Given the description of an element on the screen output the (x, y) to click on. 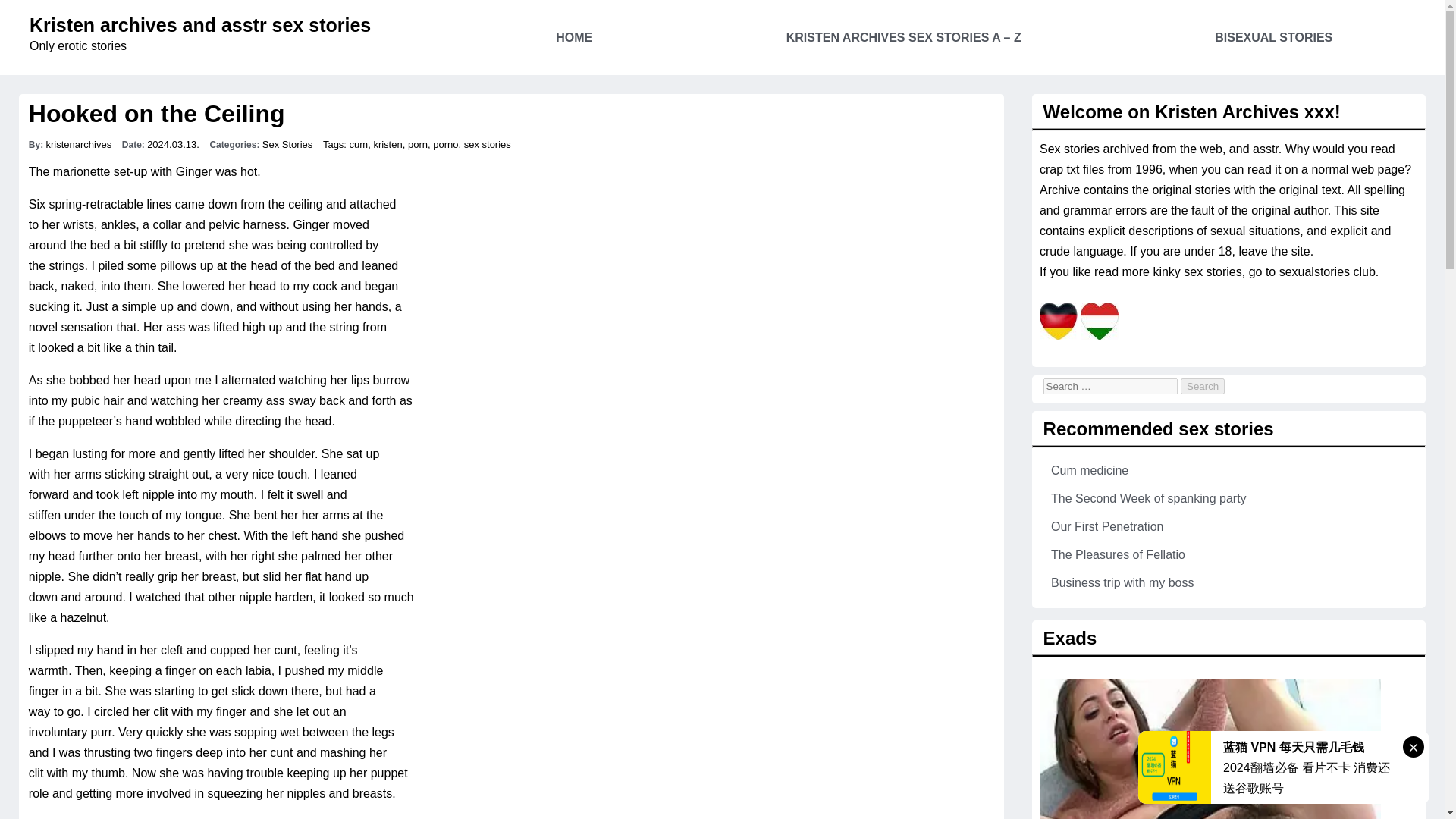
Cum medicine (1089, 470)
cum (358, 143)
Search (1202, 385)
sex stories (487, 143)
Business trip with my boss (1122, 582)
kristen (386, 143)
Sex Stories (287, 143)
Search (1202, 385)
The Pleasures of Fellatio (1118, 554)
Our First Penetration (1107, 526)
kristenarchives (78, 143)
porn (417, 143)
porno (445, 143)
The Second Week of spanking party (1148, 498)
HOME (574, 37)
